Given the description of an element on the screen output the (x, y) to click on. 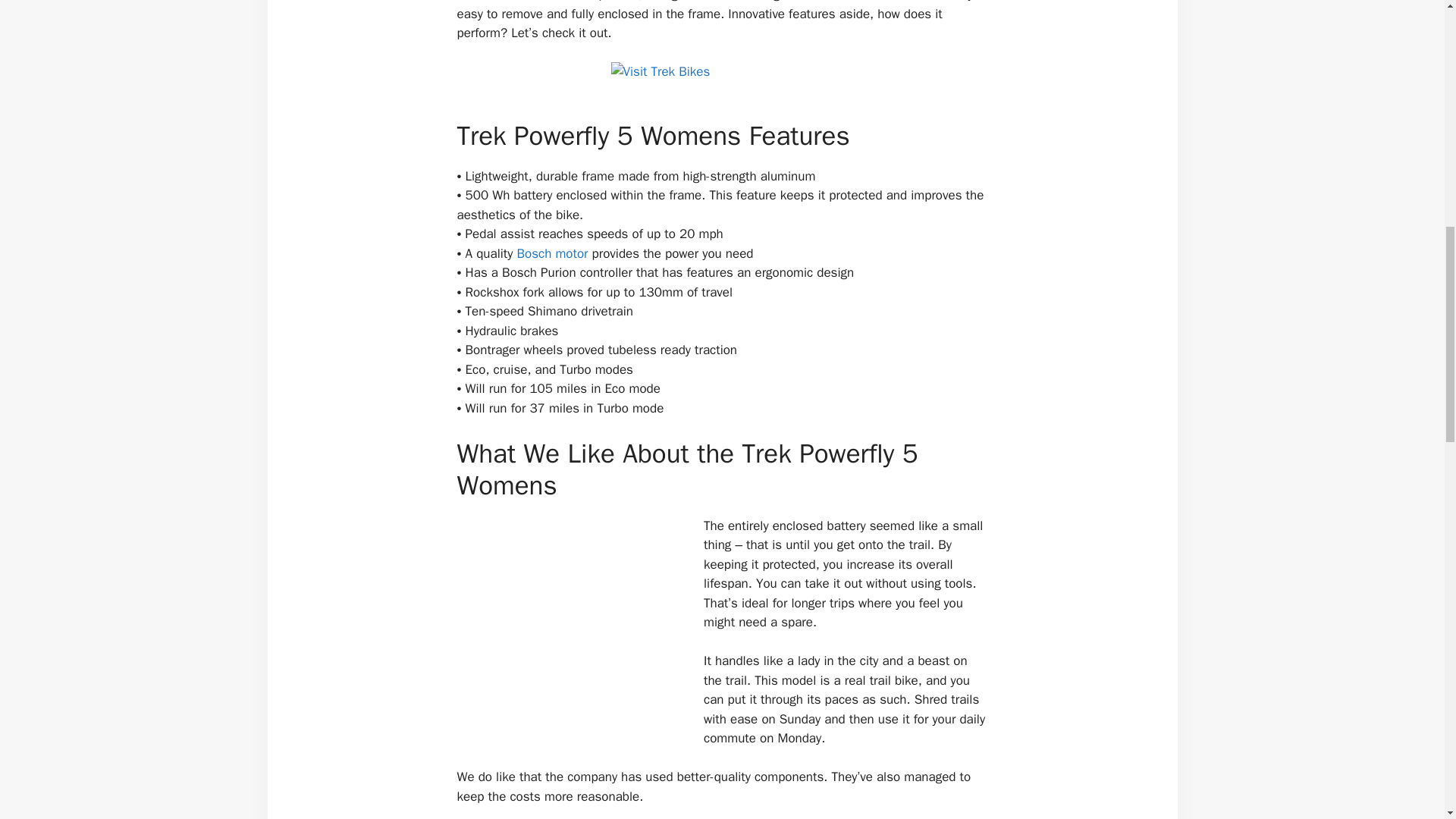
Trek Powerfly 5 Womens (722, 80)
Trek Powerfly 5 Womens Electric Mountain Bike Review 1 (722, 80)
Bosch motor (552, 253)
Trek Powerfly 5 Womens Electric Mountain Bike Review 3 (570, 629)
